Given the description of an element on the screen output the (x, y) to click on. 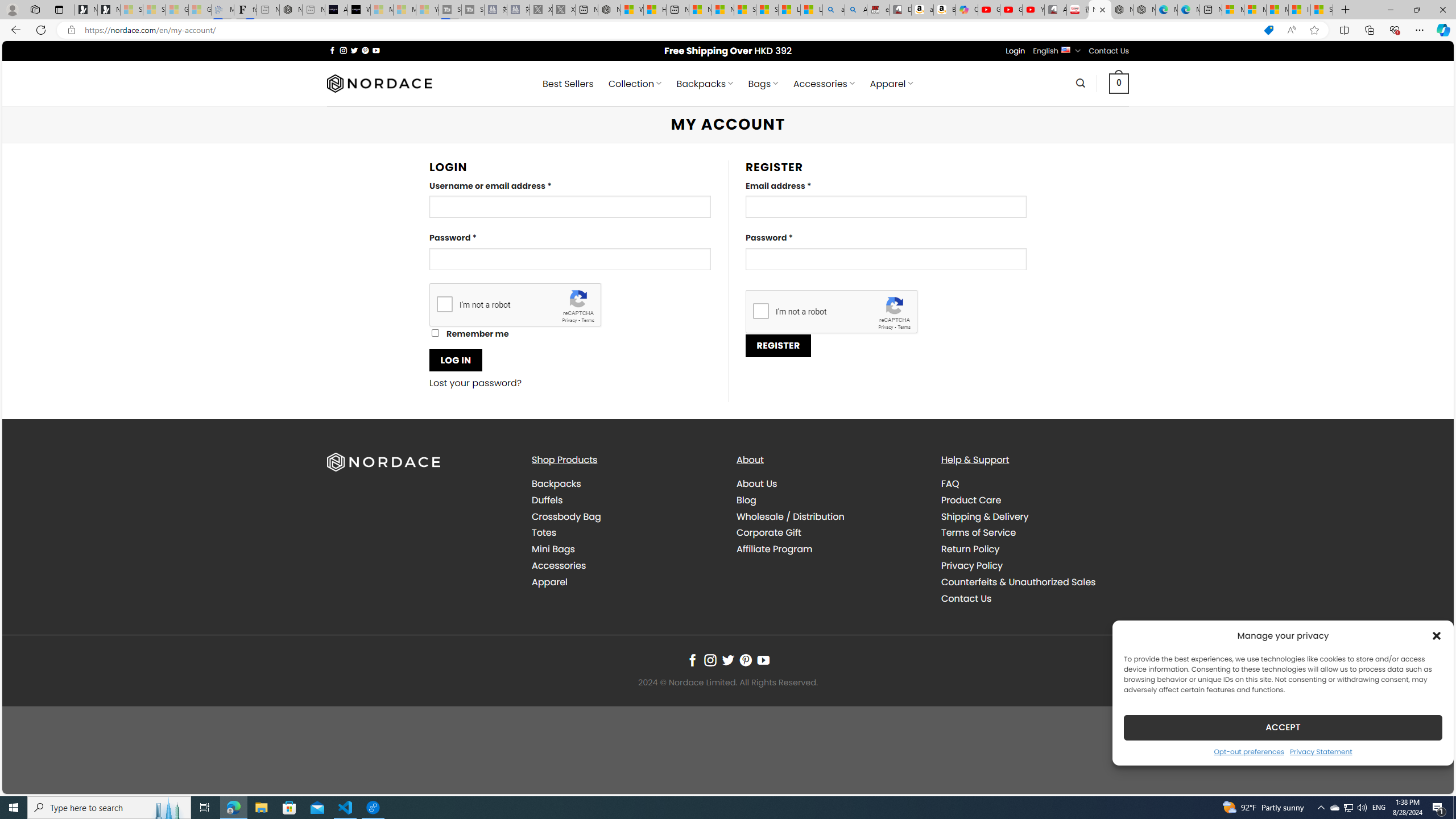
REGISTER (777, 345)
LOG IN (455, 359)
FAQ (949, 483)
English (1065, 49)
Totes (625, 532)
Return Policy (970, 549)
